Given the description of an element on the screen output the (x, y) to click on. 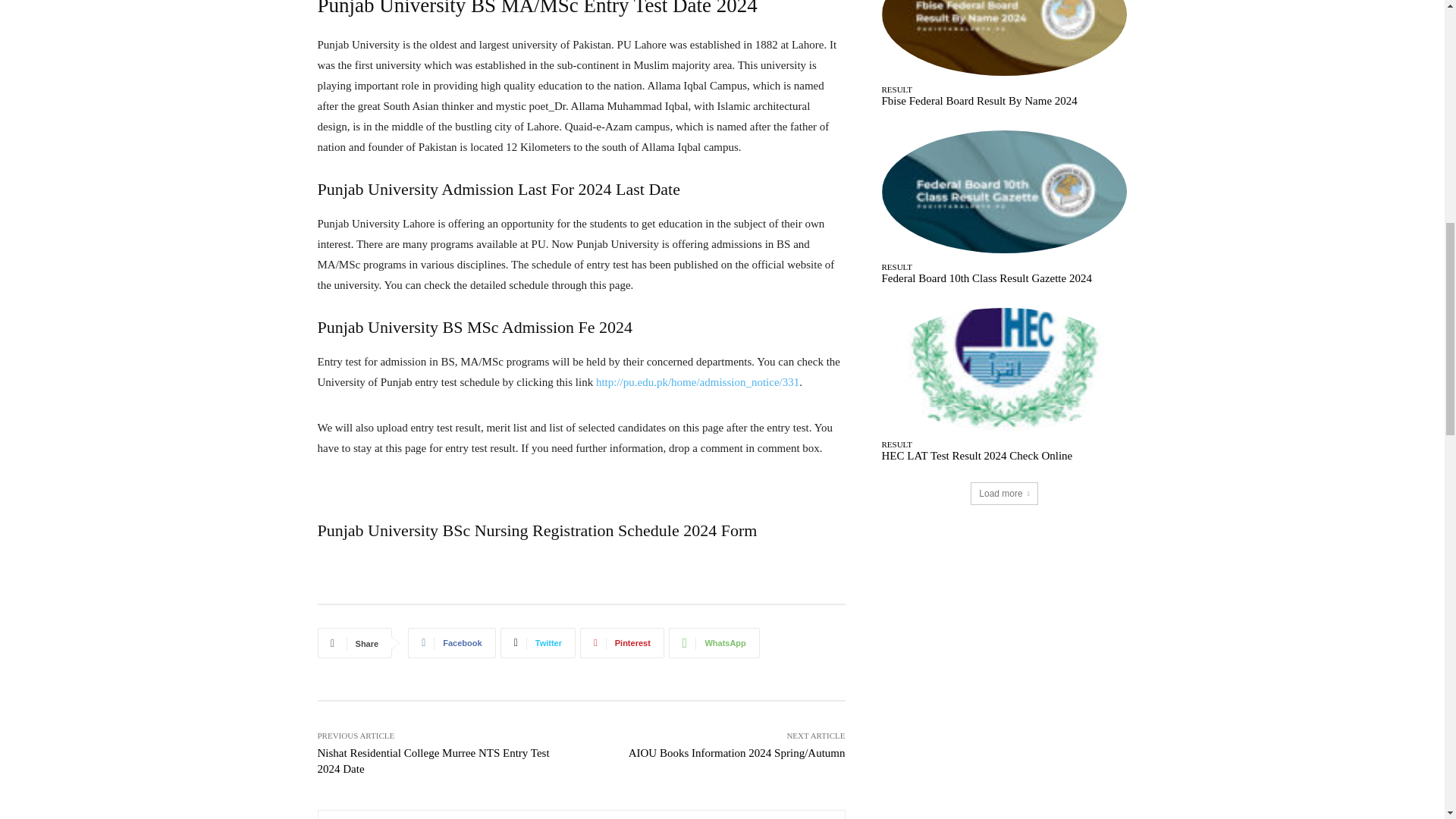
Nishat Residential College Murree NTS Entry Test 2024 Date (432, 760)
Facebook (451, 643)
WhatsApp (714, 643)
Pinterest (621, 643)
WhatsApp (714, 643)
Pinterest (621, 643)
Twitter (537, 643)
Facebook (451, 643)
Twitter (537, 643)
